Given the description of an element on the screen output the (x, y) to click on. 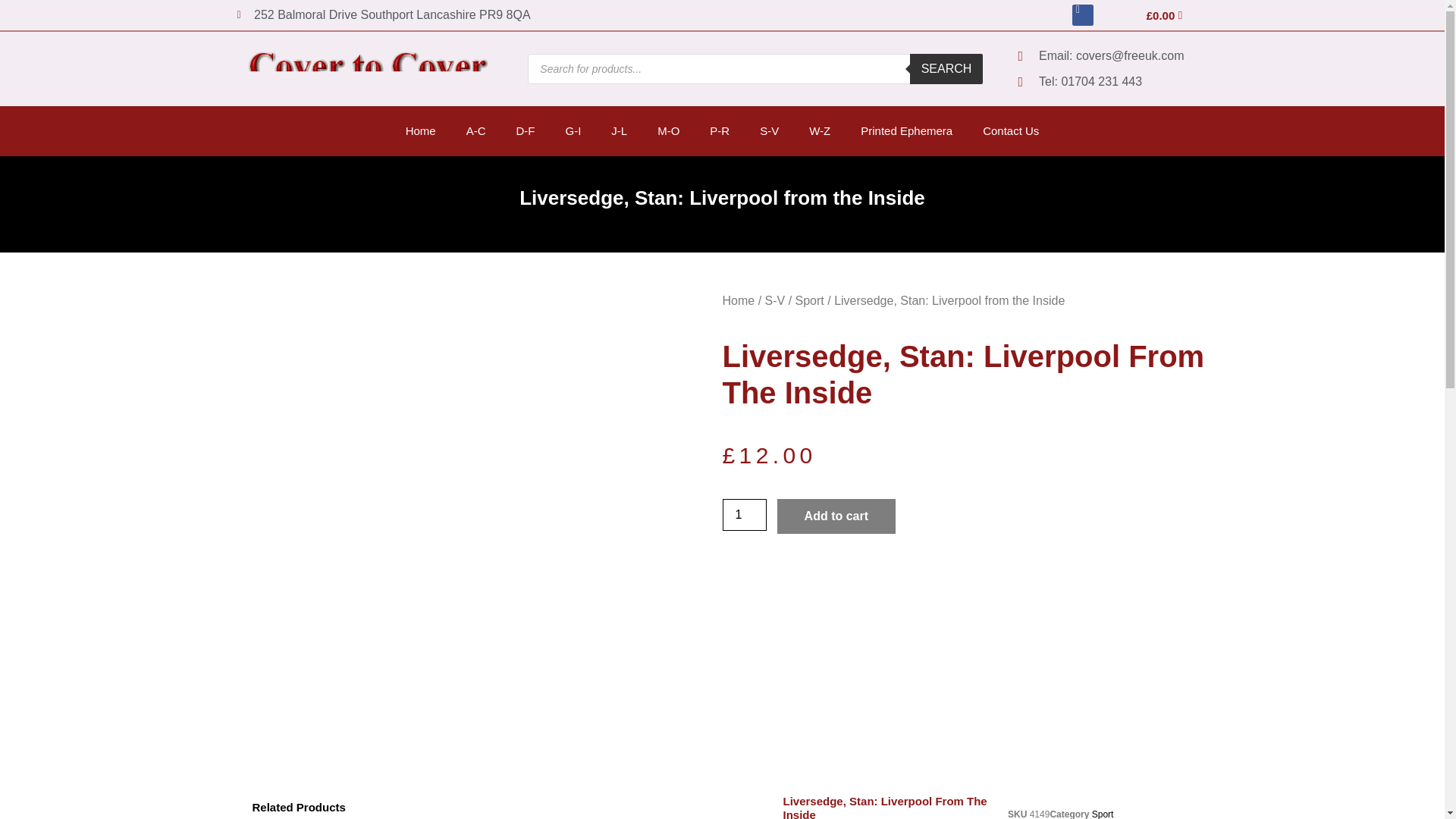
G-I (572, 130)
A-C (475, 130)
1 (743, 514)
Qty (743, 514)
J-L (618, 130)
Tel: 01704 231 443 (1106, 81)
SEARCH (947, 69)
P-R (719, 130)
M-O (668, 130)
Home (420, 130)
D-F (525, 130)
